Given the description of an element on the screen output the (x, y) to click on. 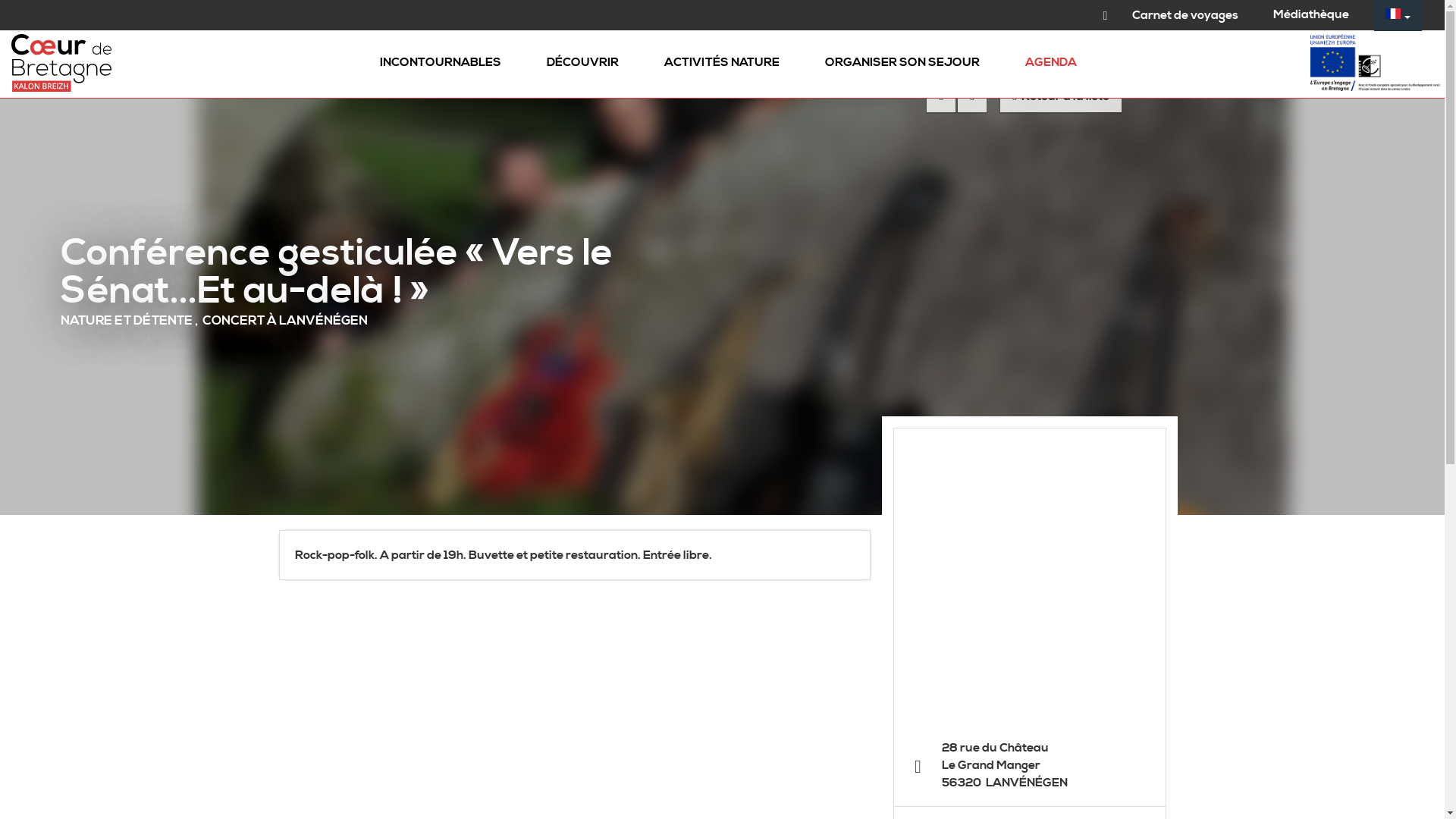
INCONTOURNABLES Element type: text (439, 64)
AGENDA Element type: text (104, 32)
Accueil Element type: text (53, 32)
AGENDA Element type: text (1050, 64)
ORGANISER SON SEJOUR Element type: text (902, 64)
